Given the description of an element on the screen output the (x, y) to click on. 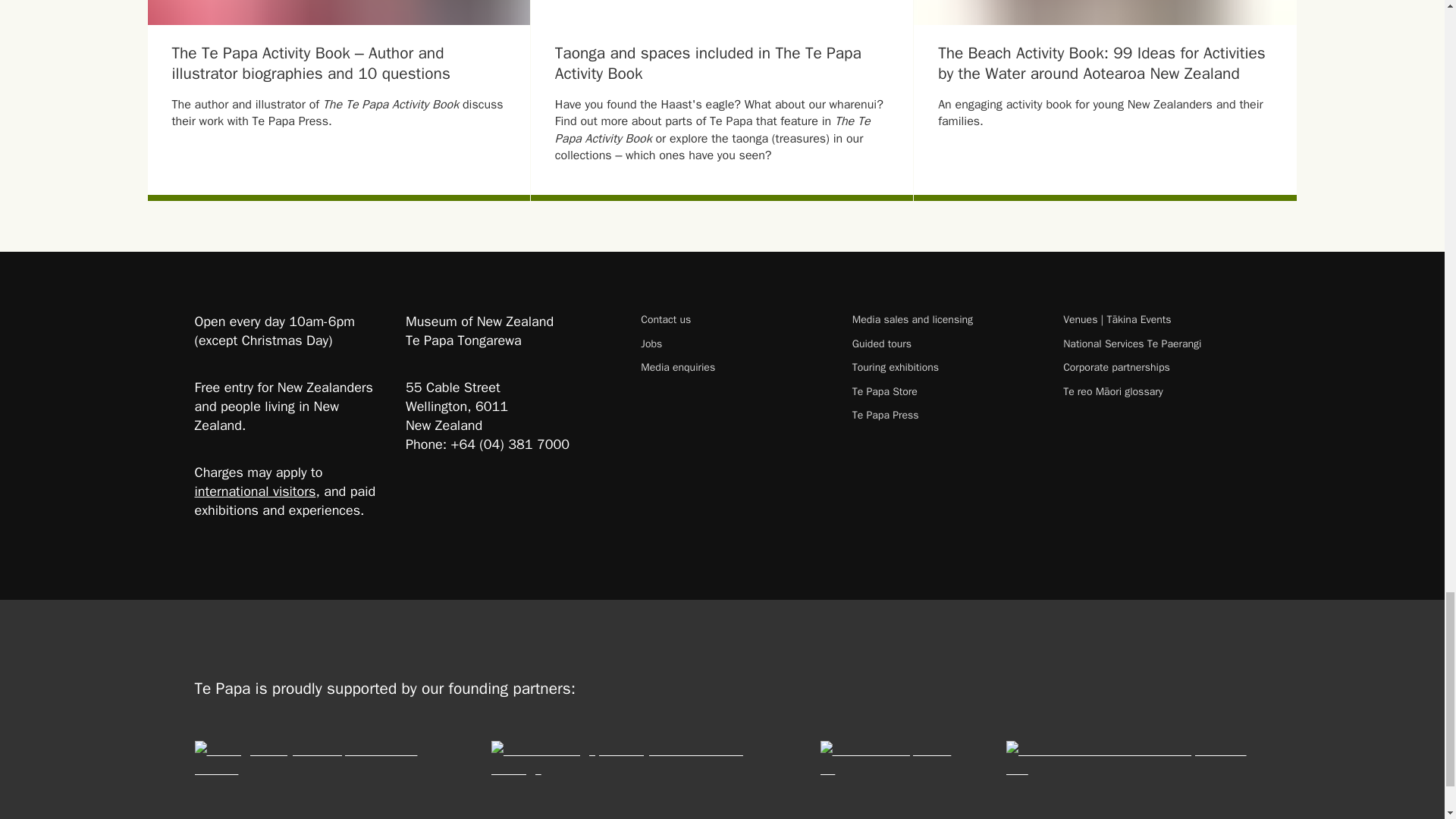
Touring exhibitions (945, 367)
international visitors (254, 491)
Guided tours (945, 343)
Jobs (733, 343)
Te Papa Store (945, 391)
Te Papa Press (945, 414)
Media enquiries (733, 367)
Media sales and licensing (945, 319)
Corporate partnerships (1155, 367)
